Given the description of an element on the screen output the (x, y) to click on. 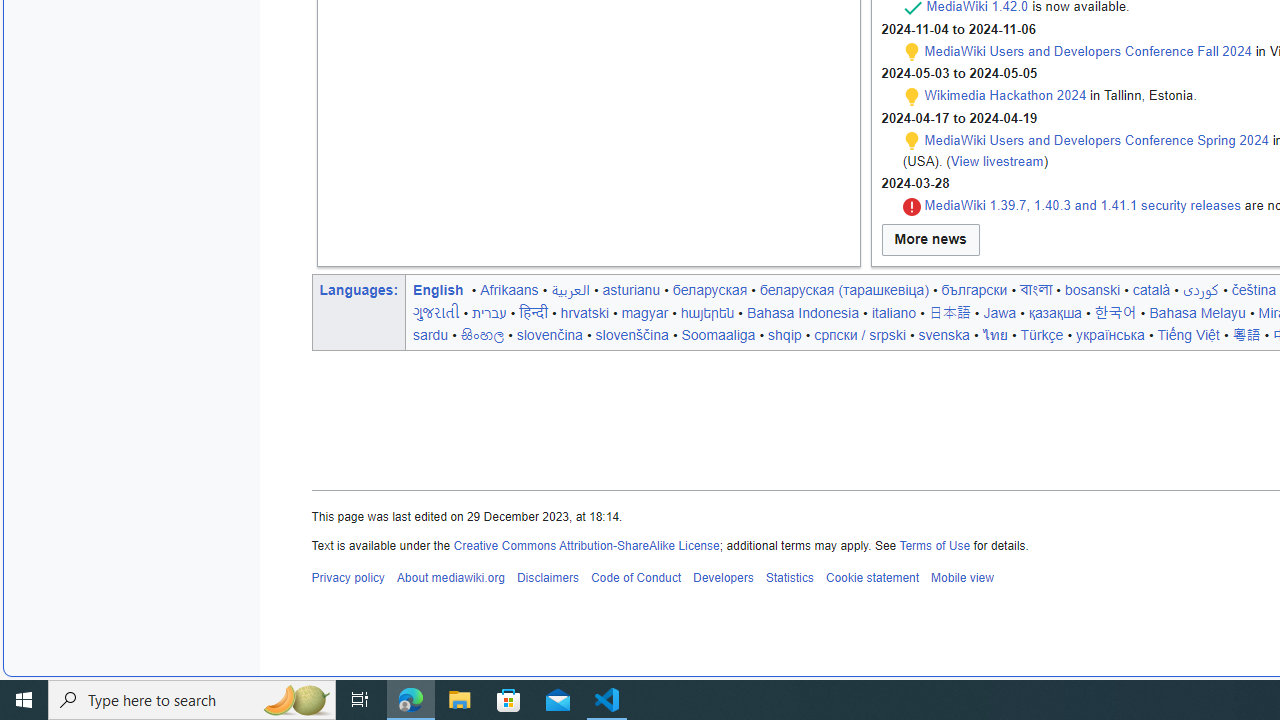
Wikimedia Hackathon 2024 (1005, 95)
Privacy policy (348, 578)
Jawa (1000, 312)
